Given the description of an element on the screen output the (x, y) to click on. 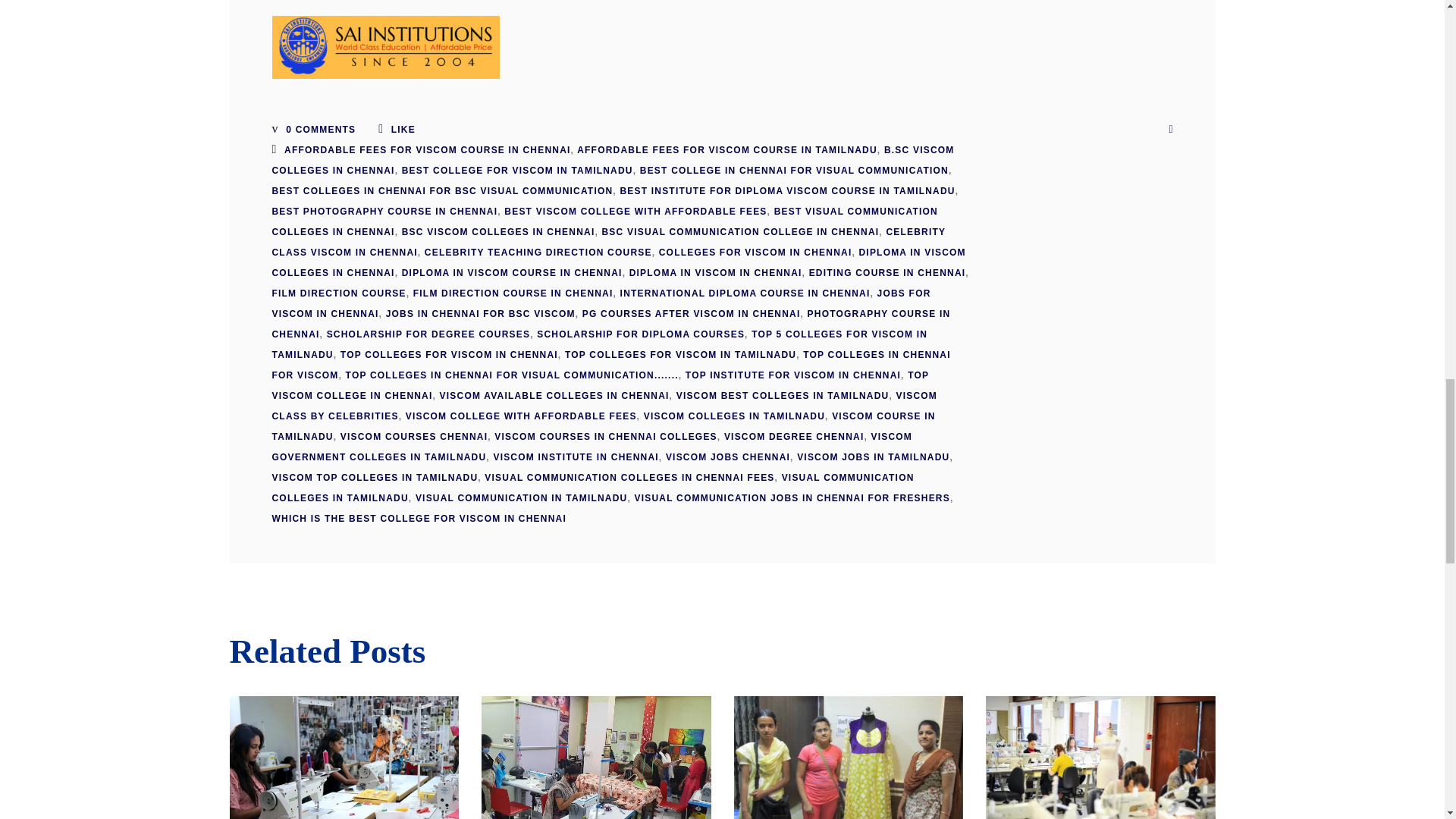
Like this (396, 129)
